Given the description of an element on the screen output the (x, y) to click on. 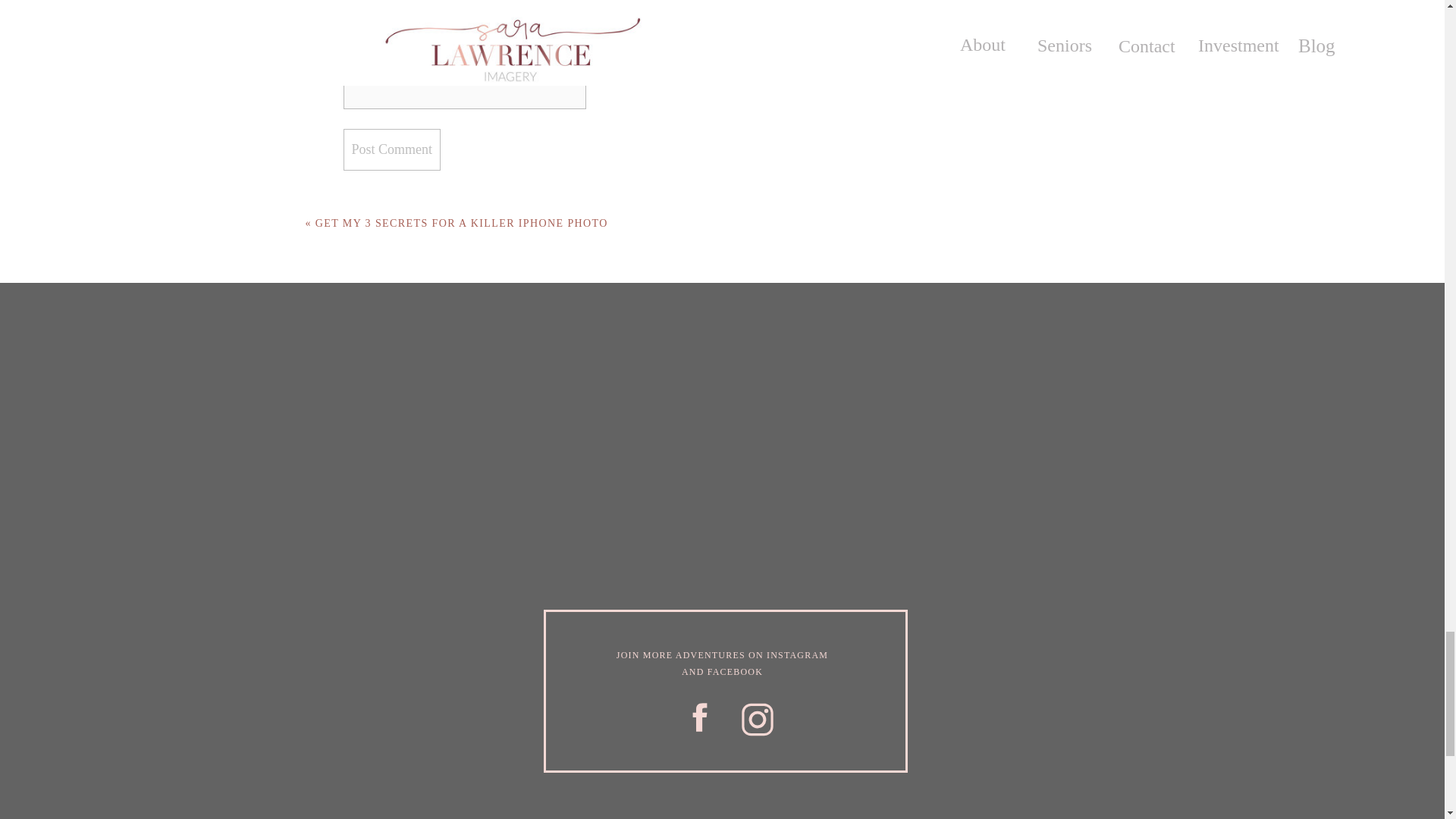
Post Comment (391, 148)
GET MY 3 SECRETS FOR A KILLER IPHONE PHOTO (461, 223)
Post Comment (391, 148)
